Given the description of an element on the screen output the (x, y) to click on. 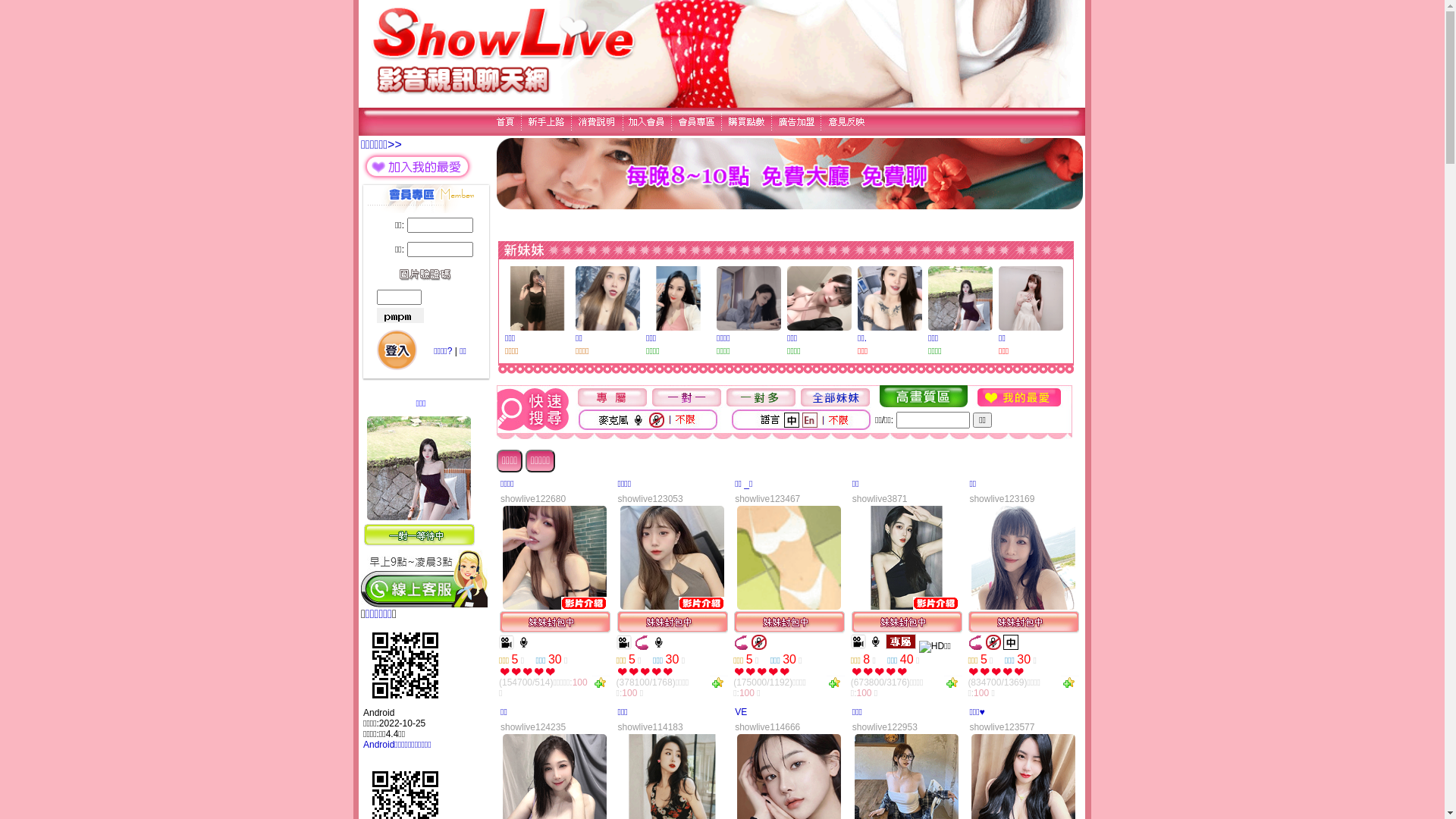
VE Element type: text (740, 711)
